Given the description of an element on the screen output the (x, y) to click on. 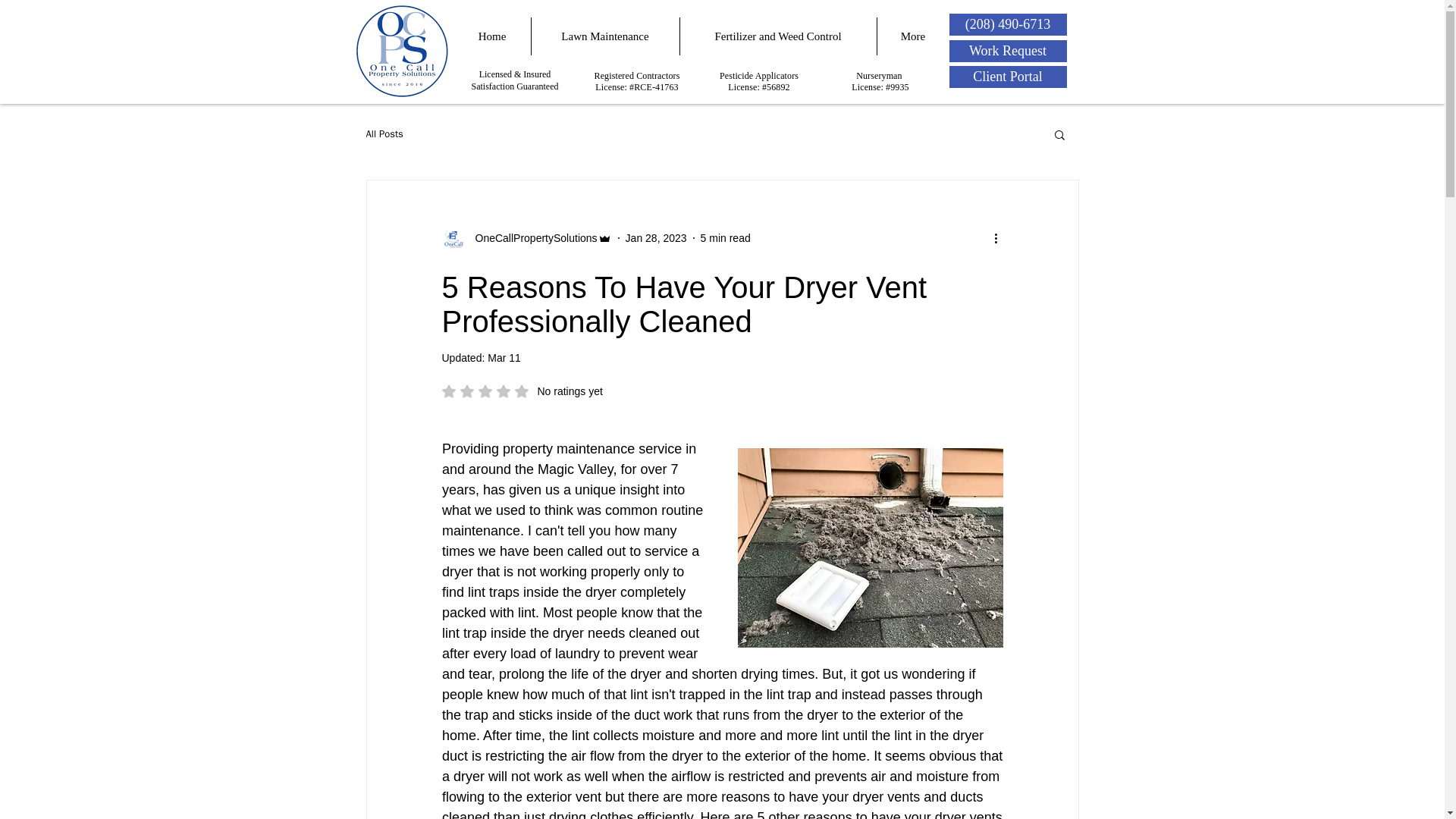
All Posts (384, 133)
Home (490, 36)
Client Portal (1008, 76)
Jan 28, 2023 (656, 237)
OneCallPropertySolutions (530, 238)
OneCallPropertySolutions (526, 238)
Work Request (1008, 51)
Lawn Maintenance (521, 391)
5 min read (605, 36)
